Given the description of an element on the screen output the (x, y) to click on. 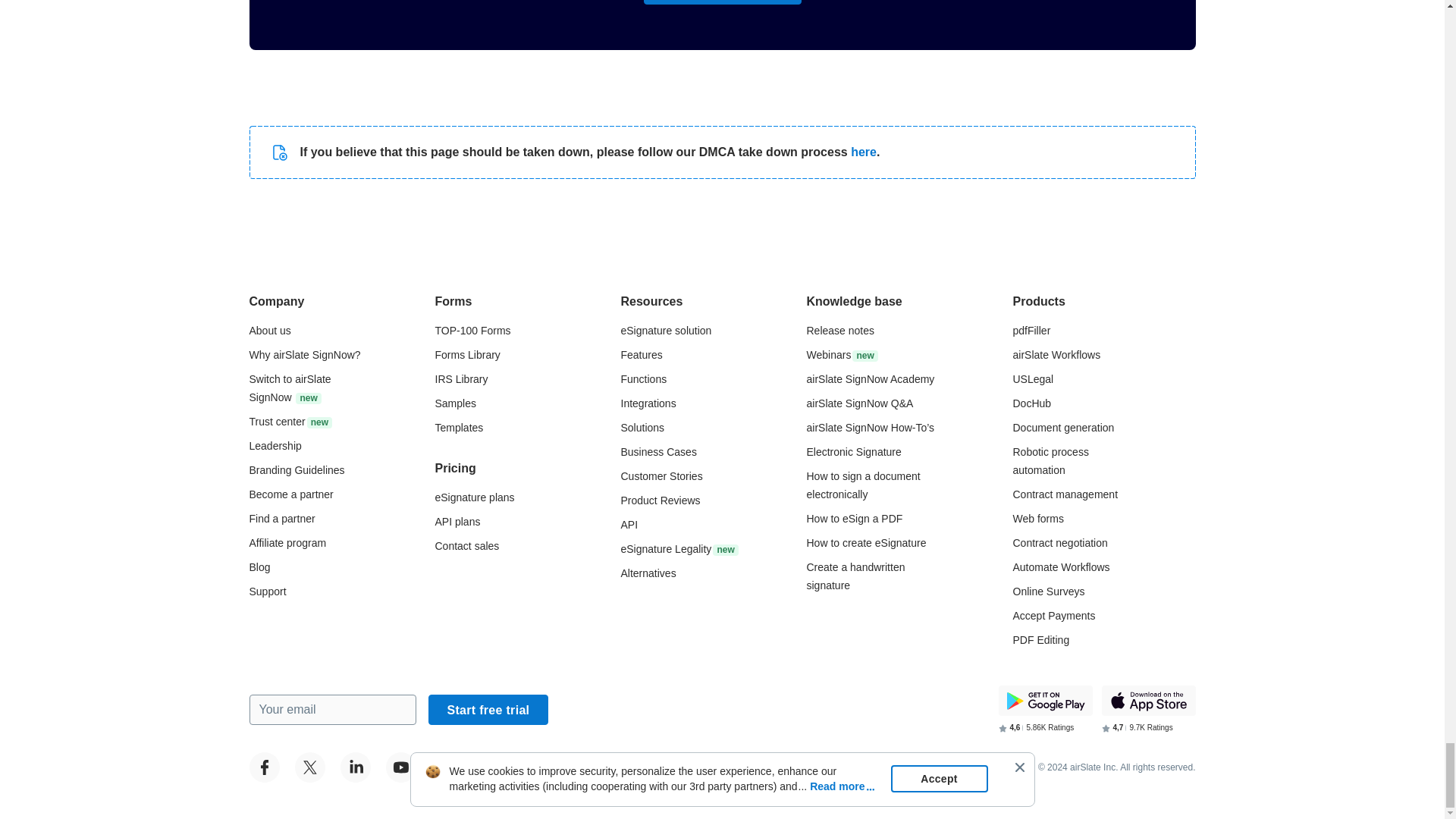
Go to the  airSlate signNow  irs library page (461, 378)
Go to the  airSlate signNow  API pricing page (457, 521)
Go to the leadership page (274, 445)
Go to the Brand page (295, 469)
Go to the Why  airSlate signNow ? page (303, 354)
Go to the partners page (281, 518)
Go to the support center (266, 591)
Go to the  airSlate signNow  templates page (459, 427)
Go to the  airSlate signNow  pricing page (475, 497)
Go to the sample documents page (455, 403)
Go to the About Us page (268, 330)
Go to the top 100 forms page (473, 330)
Go to the  airSlate signNow  forms library page (467, 354)
Go to the airSlate partner portal (290, 494)
Go to the trust center page (289, 421)
